Given the description of an element on the screen output the (x, y) to click on. 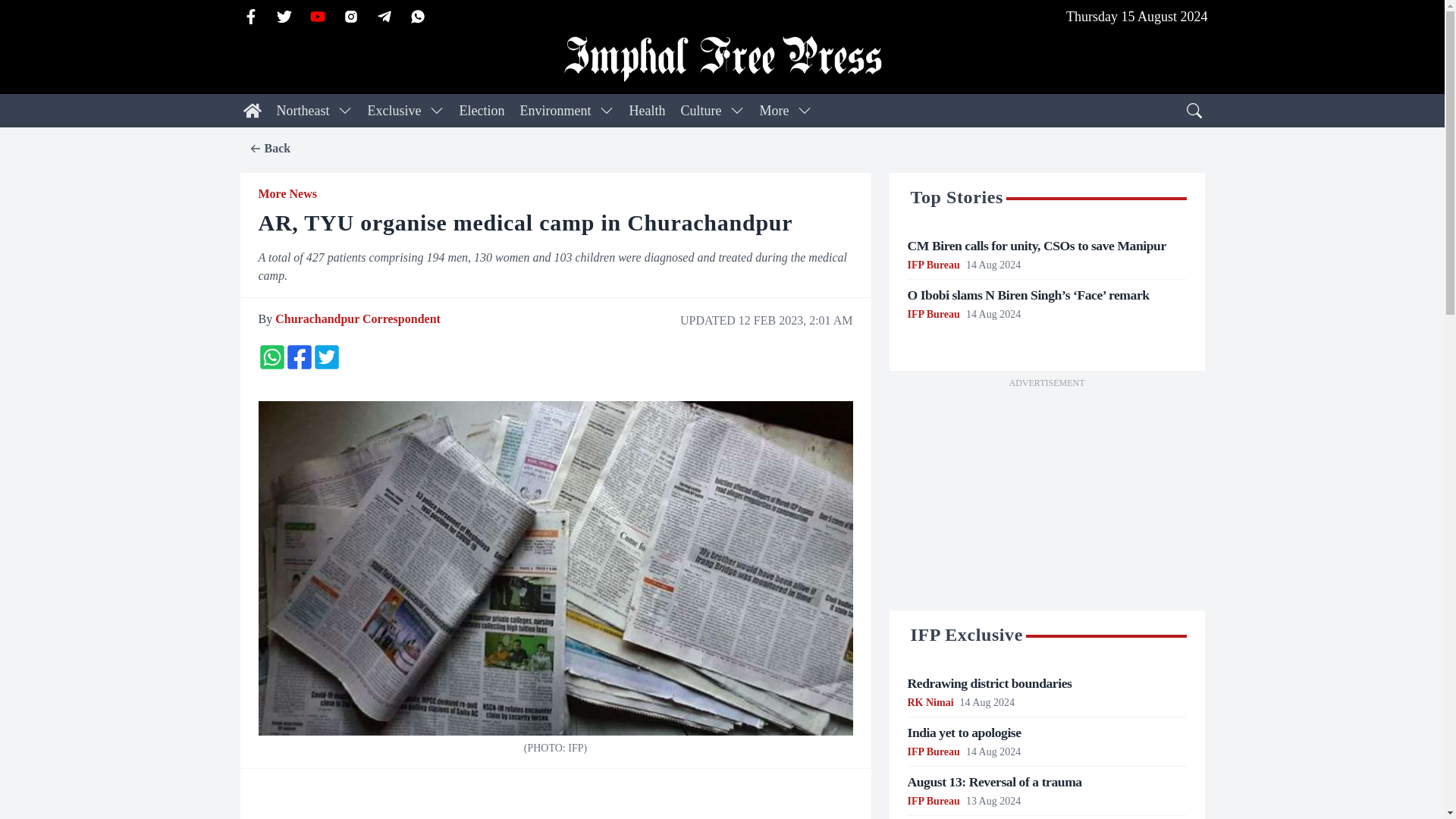
Health (647, 110)
Election (481, 110)
Advertisement (1046, 498)
Culture (700, 110)
Northeast (301, 110)
More (773, 110)
Back (268, 148)
Environment (554, 110)
Exclusive (393, 110)
